Given the description of an element on the screen output the (x, y) to click on. 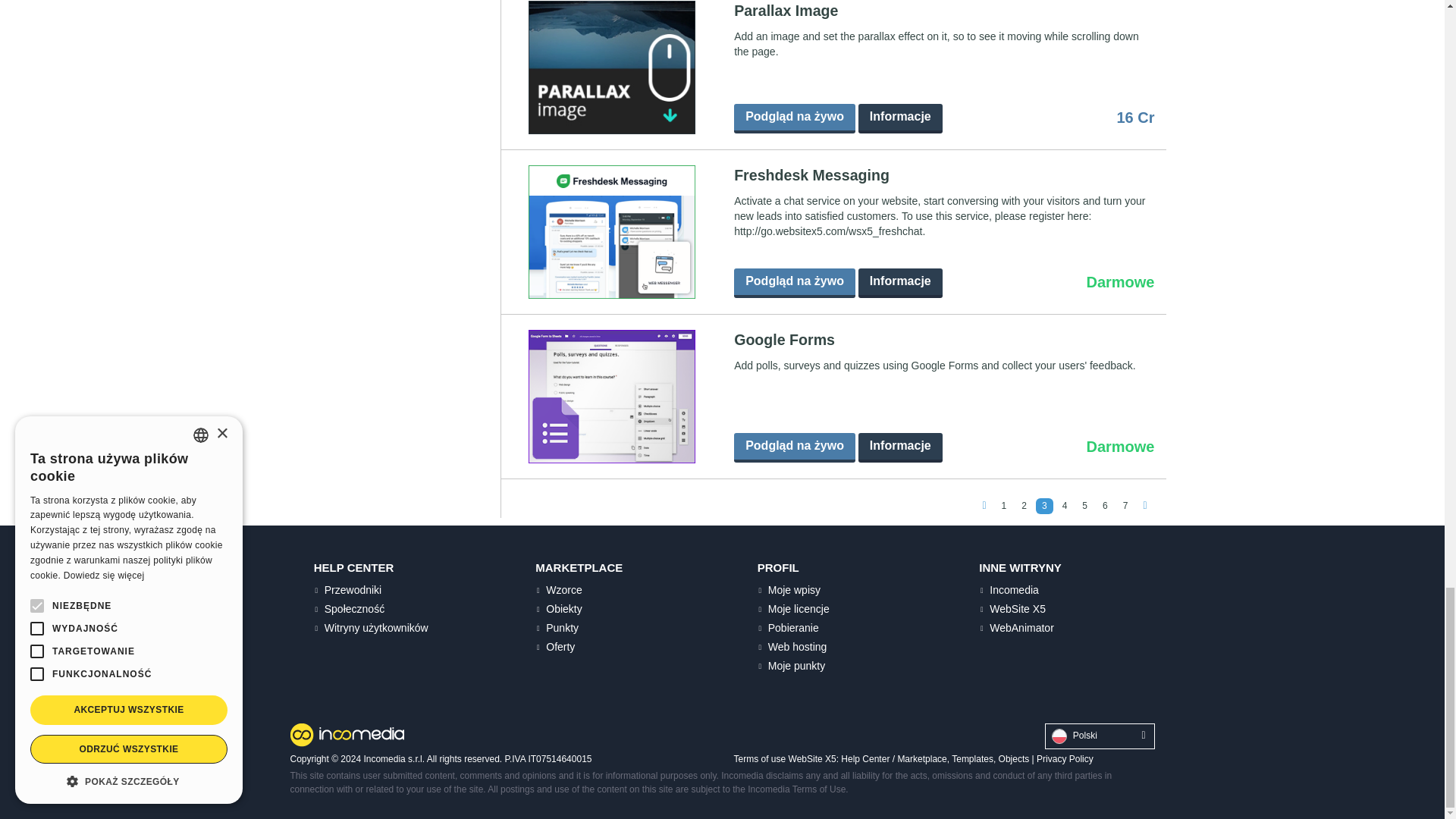
Incomedia (346, 734)
Terms of use WebSite X5 Templates (972, 758)
Privacy Policy (1064, 758)
Terms of use WebSite X5 Objects (1013, 758)
